Given the description of an element on the screen output the (x, y) to click on. 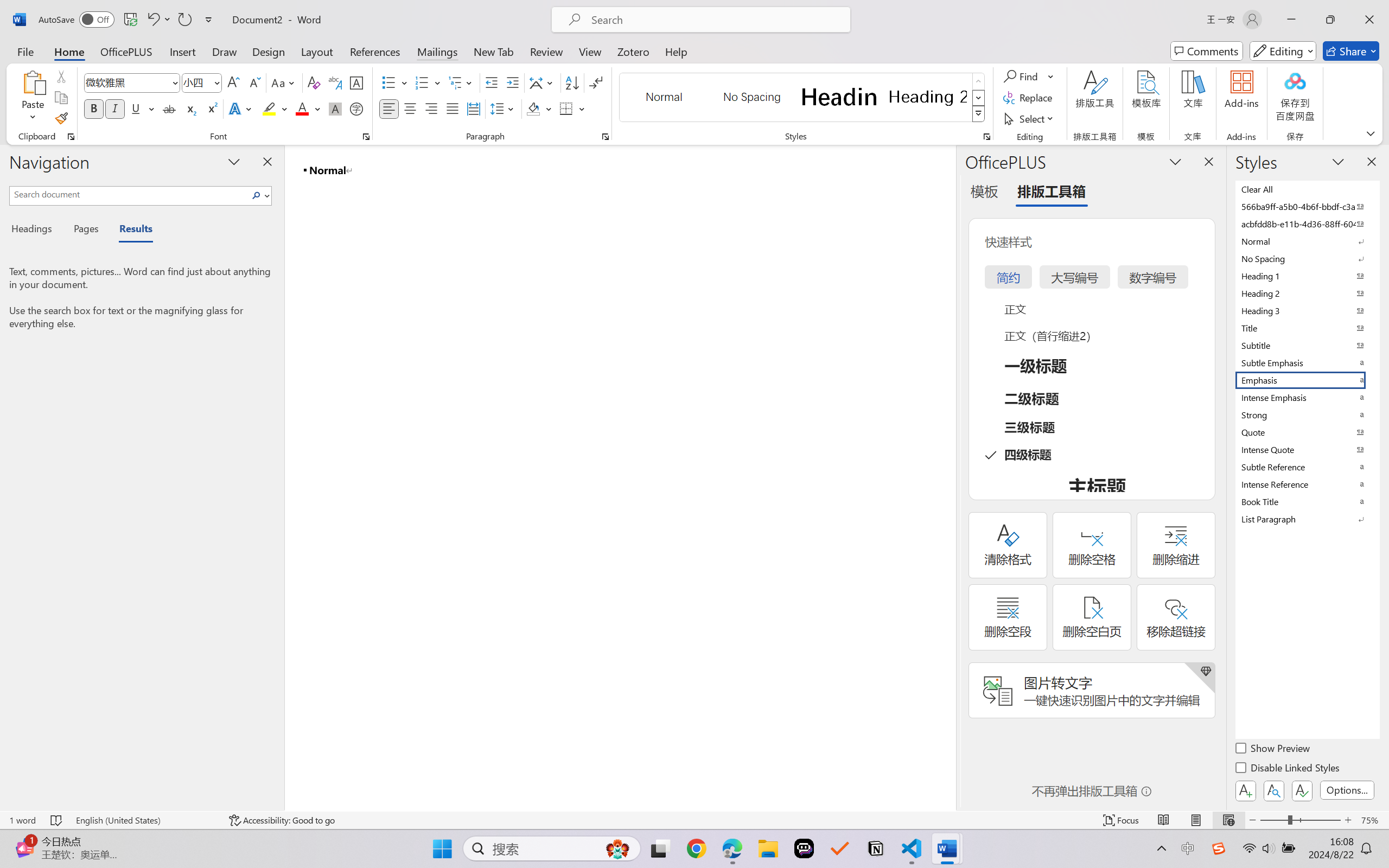
Book Title (1306, 501)
Spelling and Grammar Check No Errors (56, 819)
Paste (33, 81)
Borders (571, 108)
Class: NetUIScrollBar (948, 477)
Styles (978, 113)
Undo Style (158, 19)
Layout (316, 51)
List Paragraph (1306, 518)
Restore Down (1330, 19)
Draw (224, 51)
Print Layout (1196, 819)
